Given the description of an element on the screen output the (x, y) to click on. 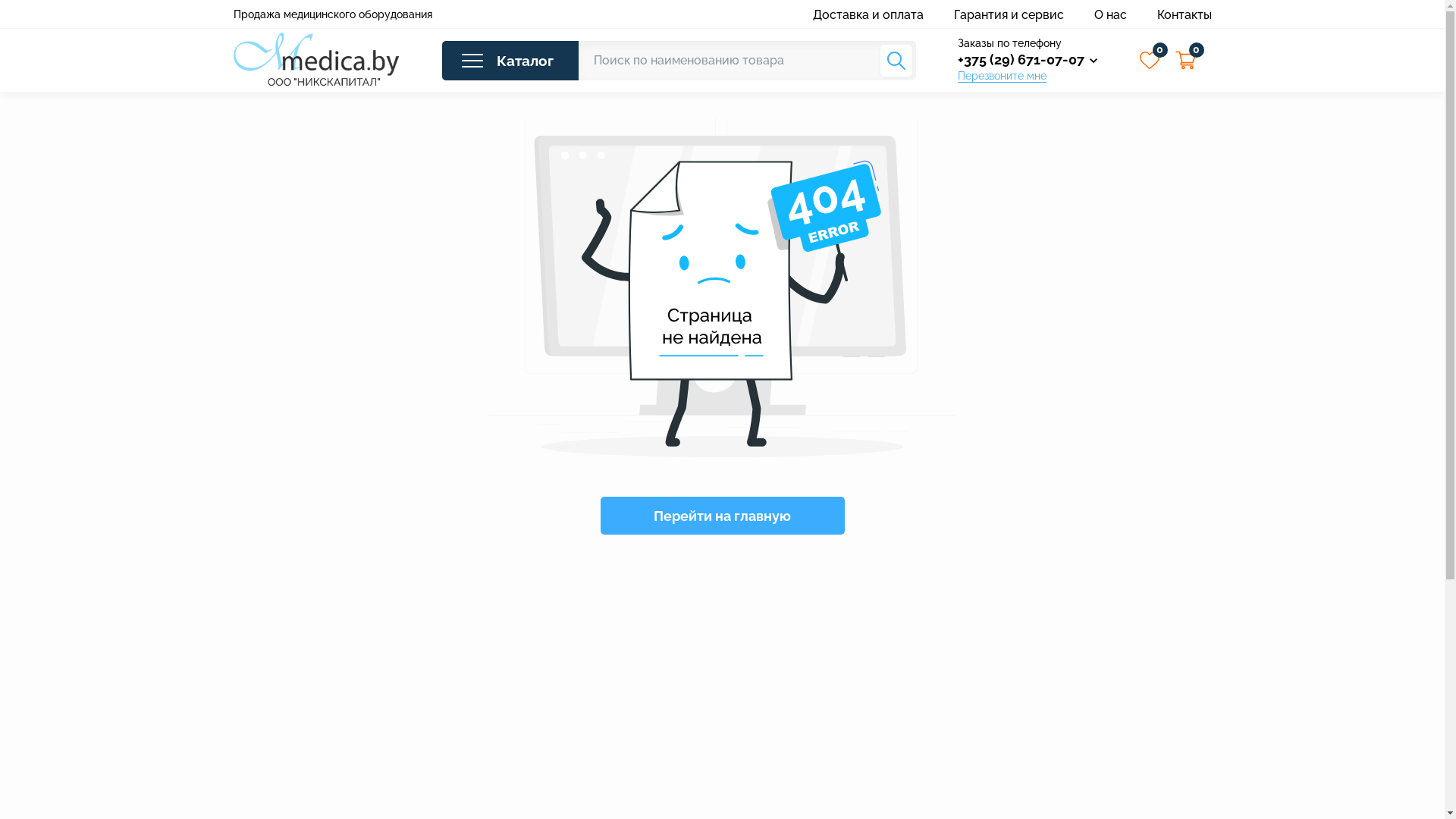
0 Element type: text (1149, 60)
0 Element type: text (1185, 60)
+375 (29) 671-07-07 Element type: text (1026, 59)
